Given the description of an element on the screen output the (x, y) to click on. 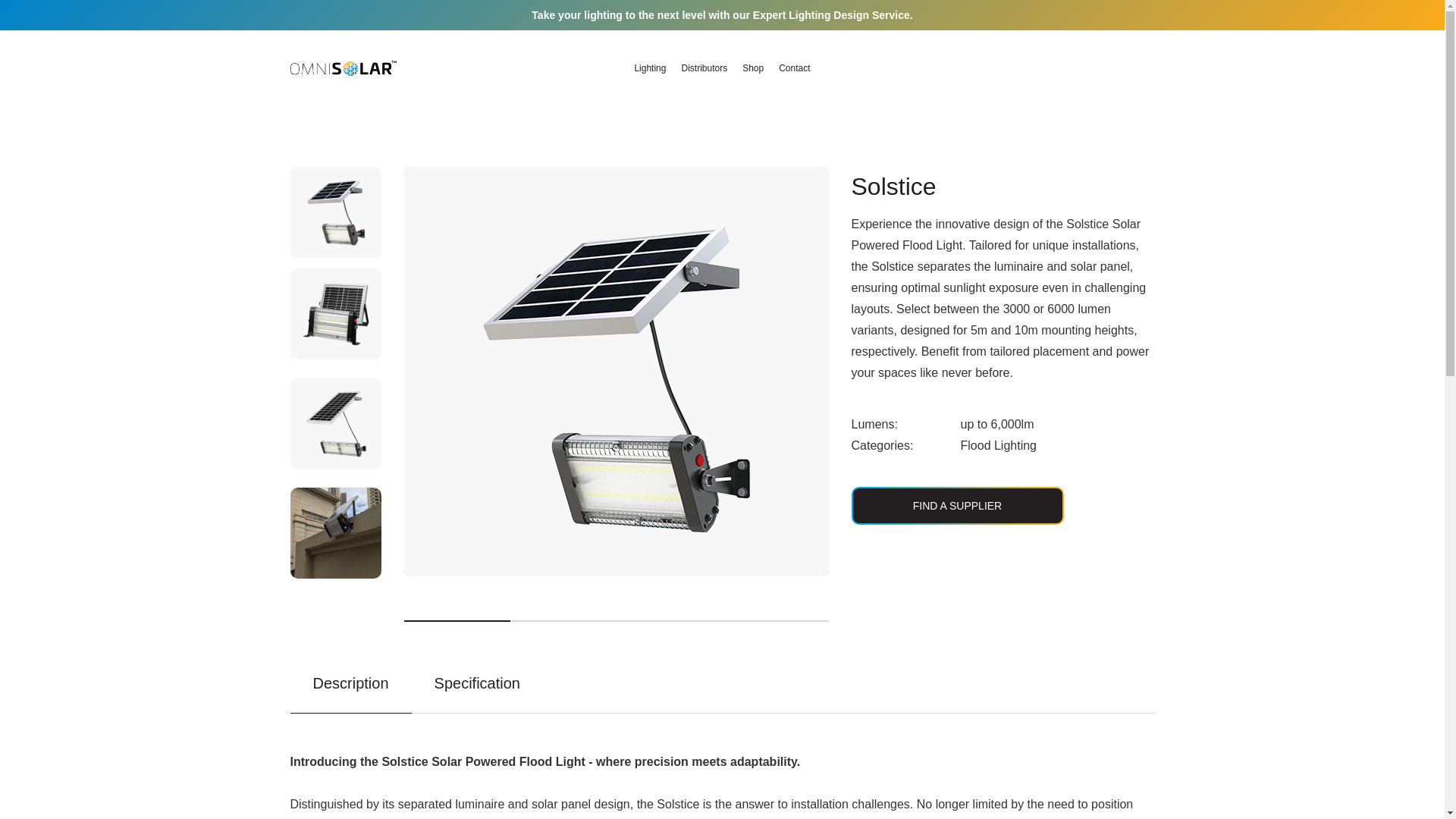
Contact (793, 67)
Distributors (703, 67)
Specification (477, 690)
Description (349, 691)
FIND A SUPPLIER (956, 505)
Lighting (649, 67)
